Given the description of an element on the screen output the (x, y) to click on. 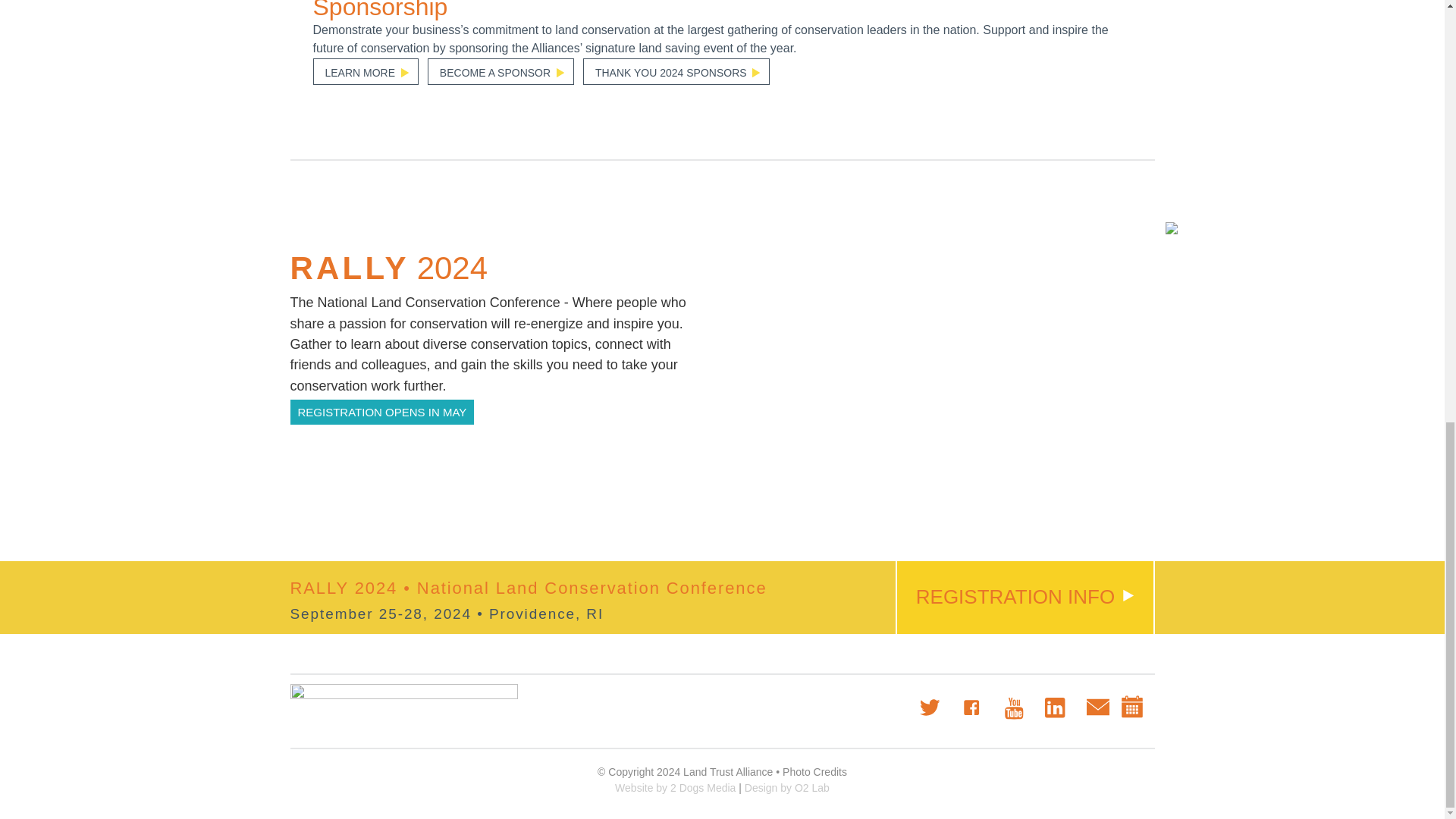
BECOME A SPONSOR   (500, 71)
O2 Lab (786, 787)
THANK YOU 2024 SPONSORS   (676, 71)
LEARN MORE  (365, 71)
